Given the description of an element on the screen output the (x, y) to click on. 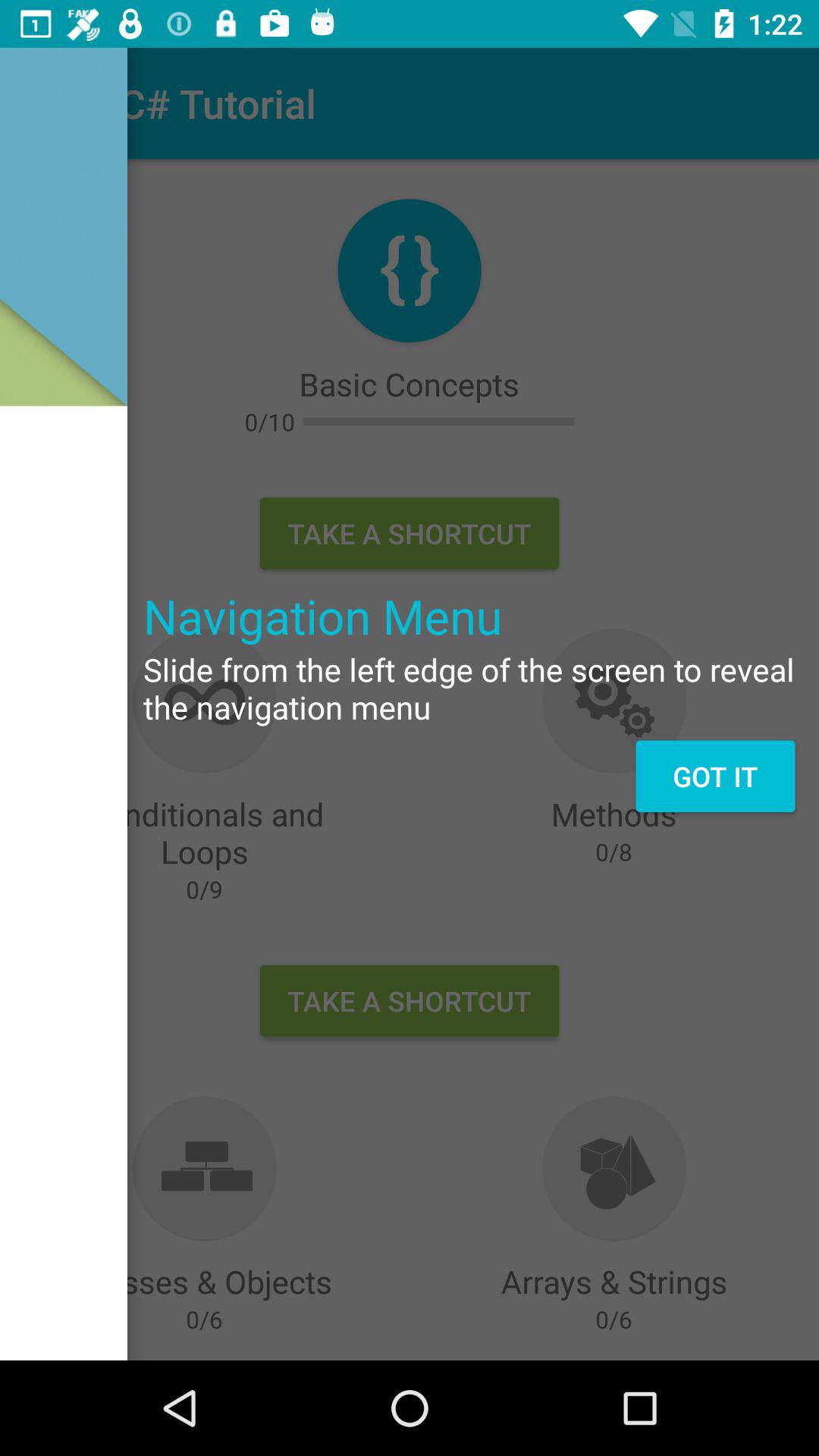
swipe to the got it item (715, 776)
